Given the description of an element on the screen output the (x, y) to click on. 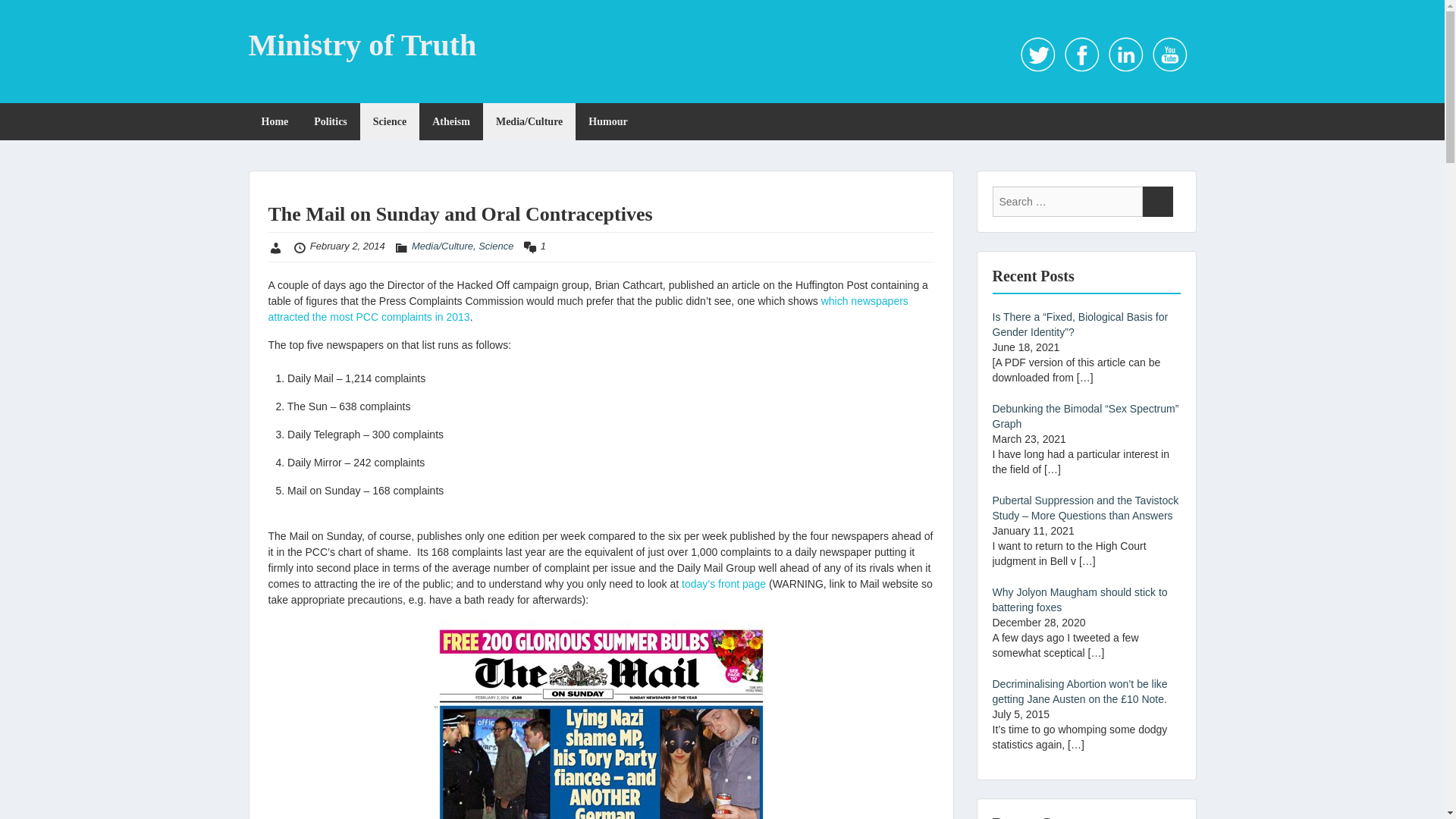
which newspapers attracted the most PCC complaints in 2013 (587, 308)
Search (1156, 201)
Science (389, 121)
Politics (330, 121)
Search for: (1066, 201)
Ministry of Truth (362, 44)
Science (496, 245)
Search (1156, 201)
Humour (607, 121)
Atheism (451, 121)
